Given the description of an element on the screen output the (x, y) to click on. 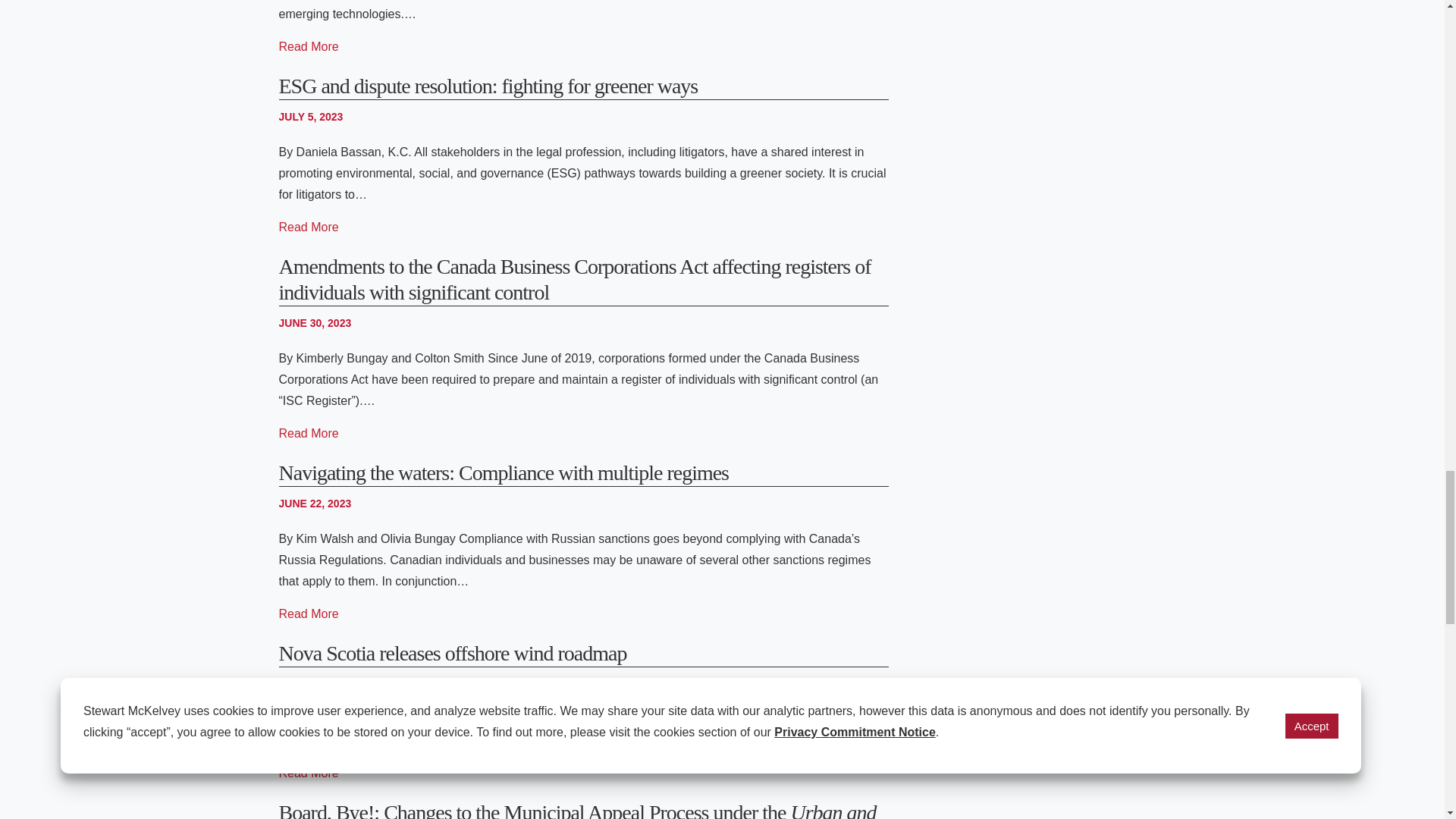
ESG and dispute resolution: fighting for greener ways (488, 85)
Navigating the waters: Compliance with multiple regimes (504, 472)
Navigating the waters: Compliance with multiple regimes (309, 614)
ESG and dispute resolution: fighting for greener ways (309, 228)
